Given the description of an element on the screen output the (x, y) to click on. 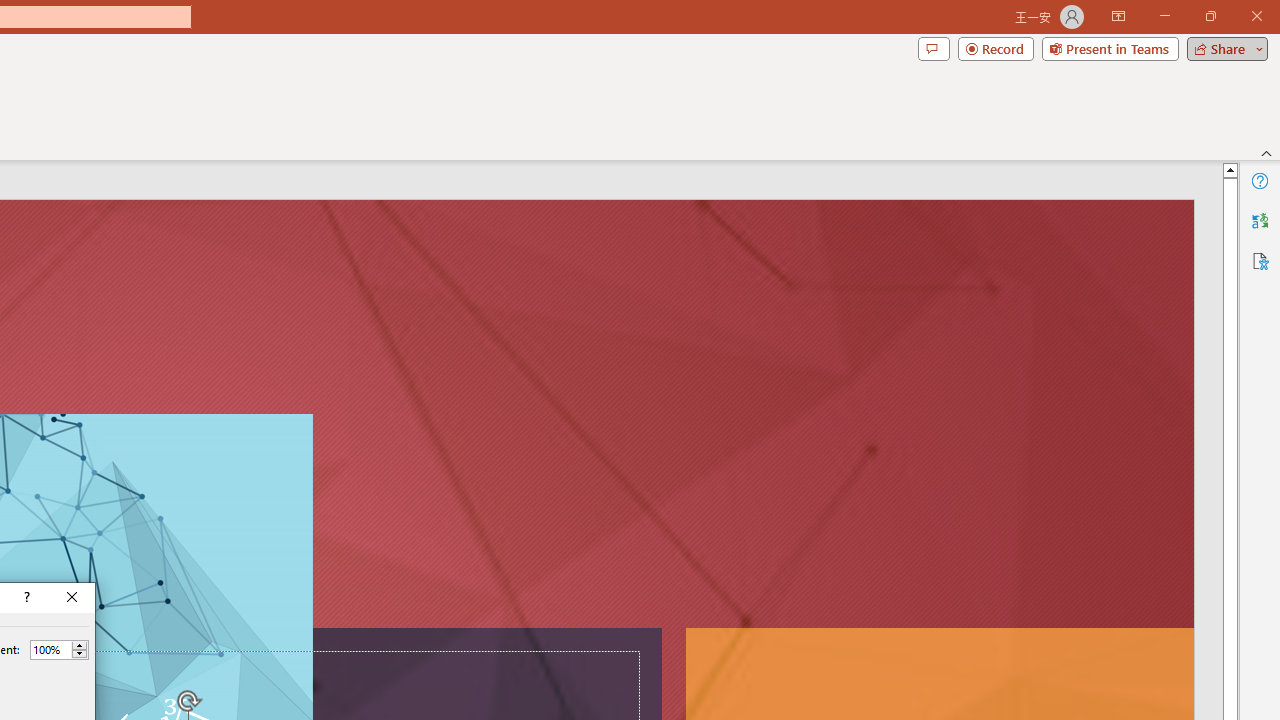
Percent (59, 650)
Percent (50, 649)
